Given the description of an element on the screen output the (x, y) to click on. 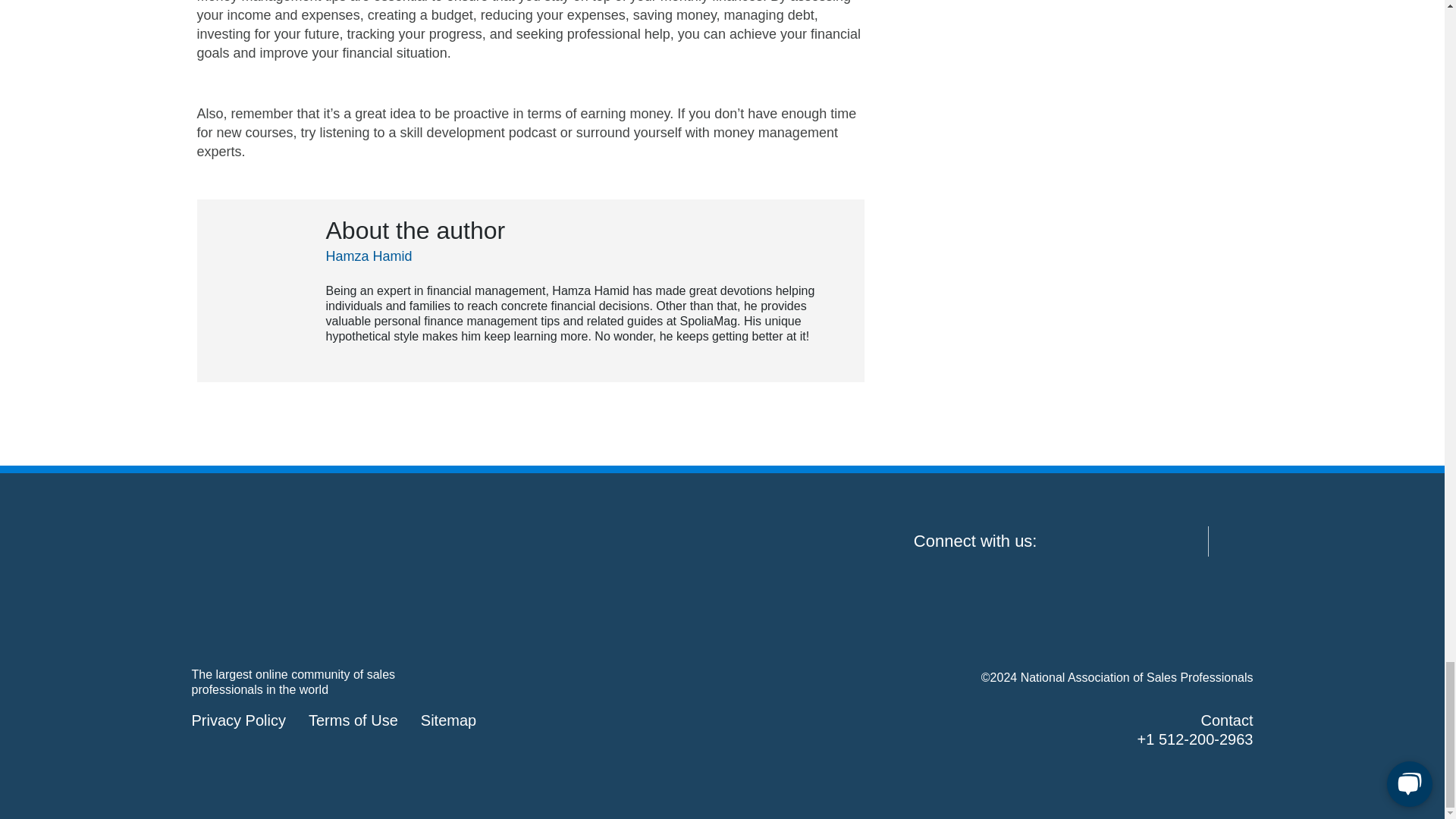
NASP logo footer (304, 581)
